Given the description of an element on the screen output the (x, y) to click on. 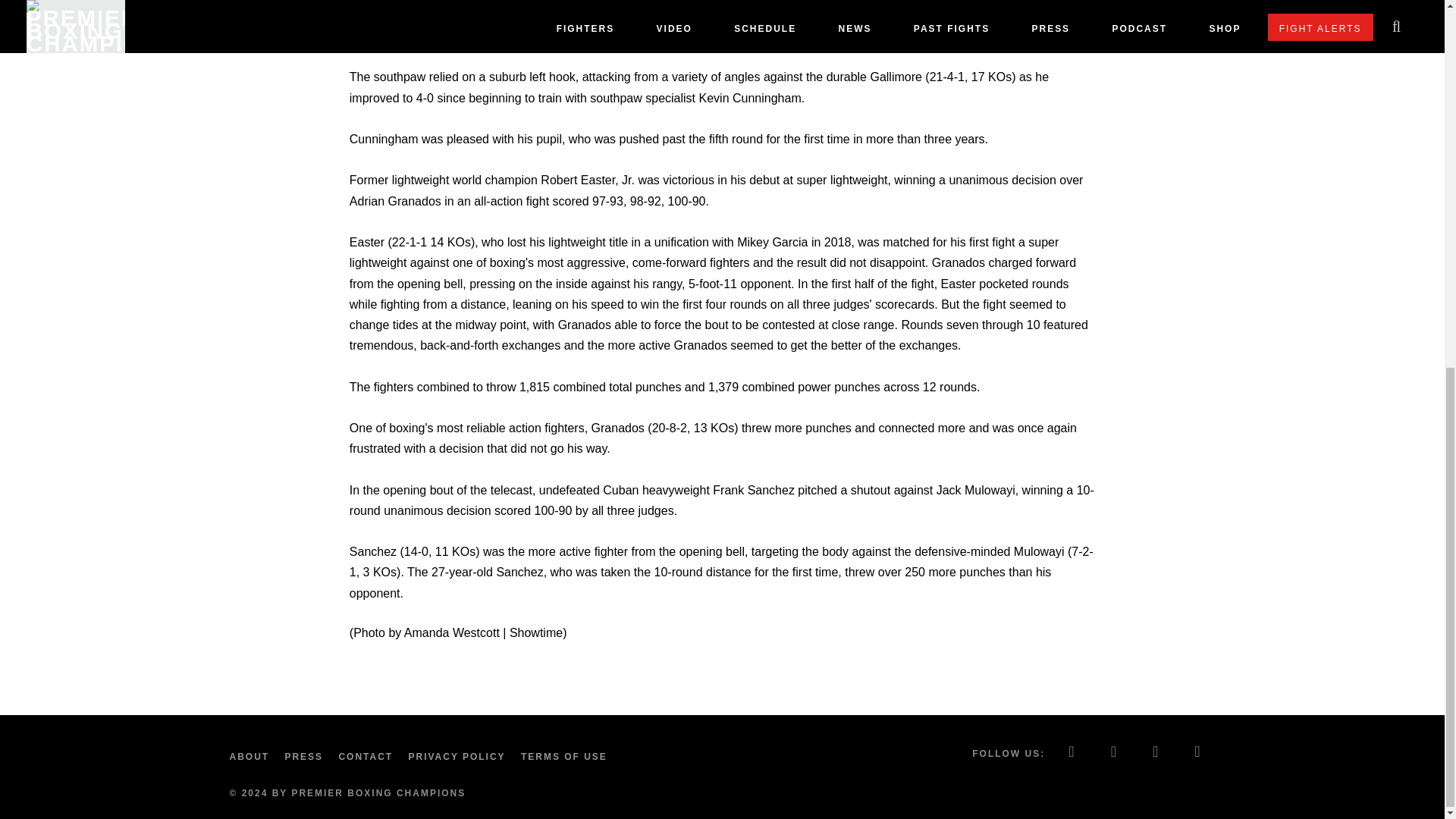
PRIVACY POLICY (459, 756)
FACEBOOK (1071, 753)
TERMS OF USE (567, 756)
INSTAGRAM (1155, 753)
ABOUT (252, 756)
PRESS (306, 756)
CONTACT (368, 756)
TWITTER (1114, 753)
YOU TUBE (1197, 753)
